Given the description of an element on the screen output the (x, y) to click on. 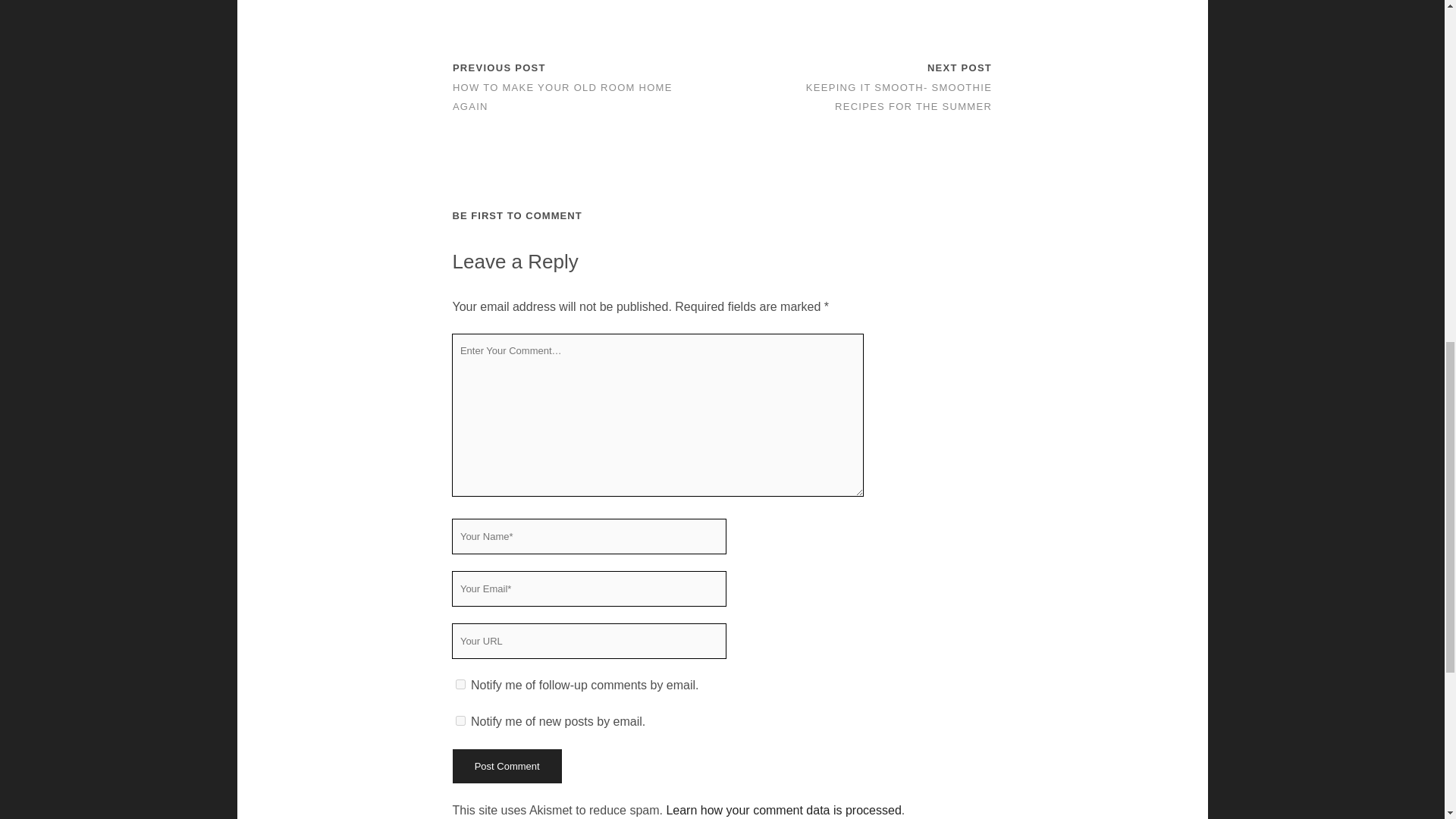
Post Comment (505, 765)
Post Comment (505, 765)
subscribe (459, 684)
Learn how your comment data is processed (783, 809)
subscribe (459, 720)
KEEPING IT SMOOTH- SMOOTHIE RECIPES FOR THE SUMMER (898, 96)
HOW TO MAKE YOUR OLD ROOM HOME AGAIN (562, 96)
